Given the description of an element on the screen output the (x, y) to click on. 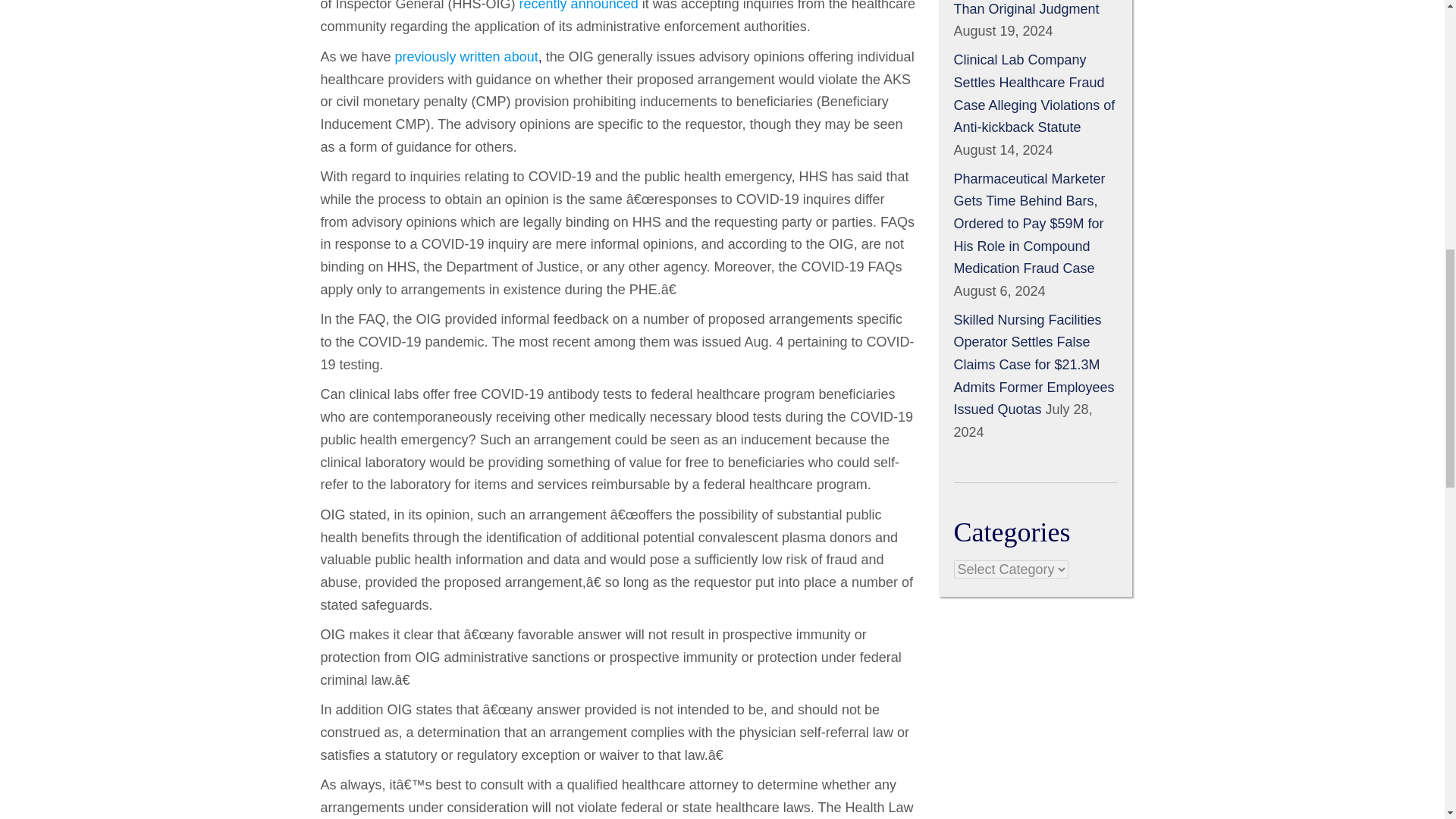
previously written about, (467, 56)
recently announced (580, 5)
